Given the description of an element on the screen output the (x, y) to click on. 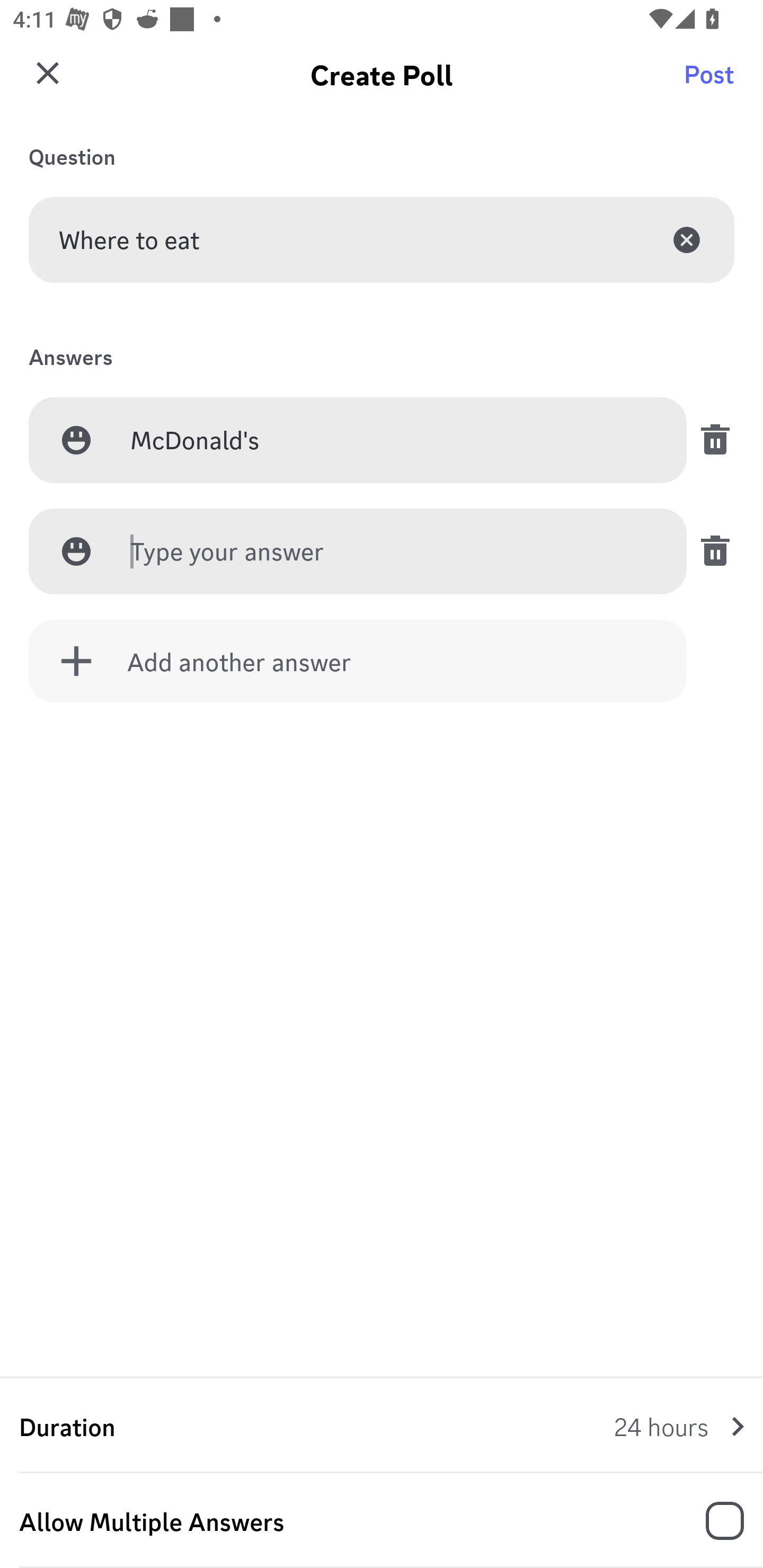
general (channel) general general (channel) (387, 82)
Back (44, 82)
Search (711, 82)
Where to eat Question (381, 239)
Clear (686, 239)
Add media, answer 1 (75, 439)
Remove answer 1 (710, 439)
McDonald's Answer 1 (393, 440)
Add media, answer 2 (75, 550)
Remove answer 2 (710, 550)
Type your answer Answer 2 (393, 551)
Add another answer (357, 660)
Duration 24 hours Duration 24 hours (381, 1425)
Allow Multiple Answers,  Allow Multiple Answers (381, 1520)
Record Voice Message (711, 1522)
